Given the description of an element on the screen output the (x, y) to click on. 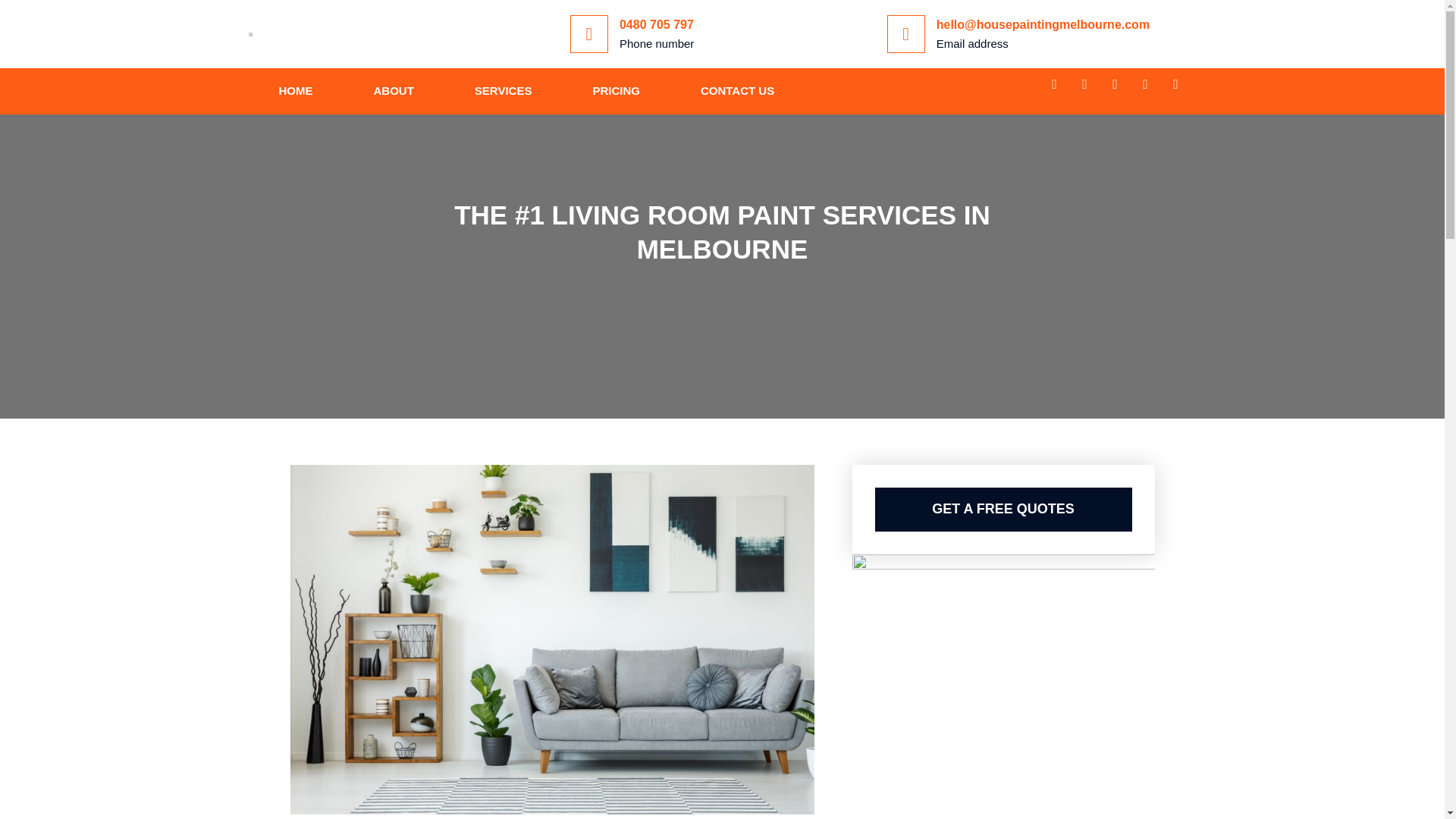
0480 705 797 (657, 24)
CONTACT US (737, 90)
ABOUT (393, 90)
PRICING (615, 90)
HOME (295, 90)
SERVICES (503, 90)
